Given the description of an element on the screen output the (x, y) to click on. 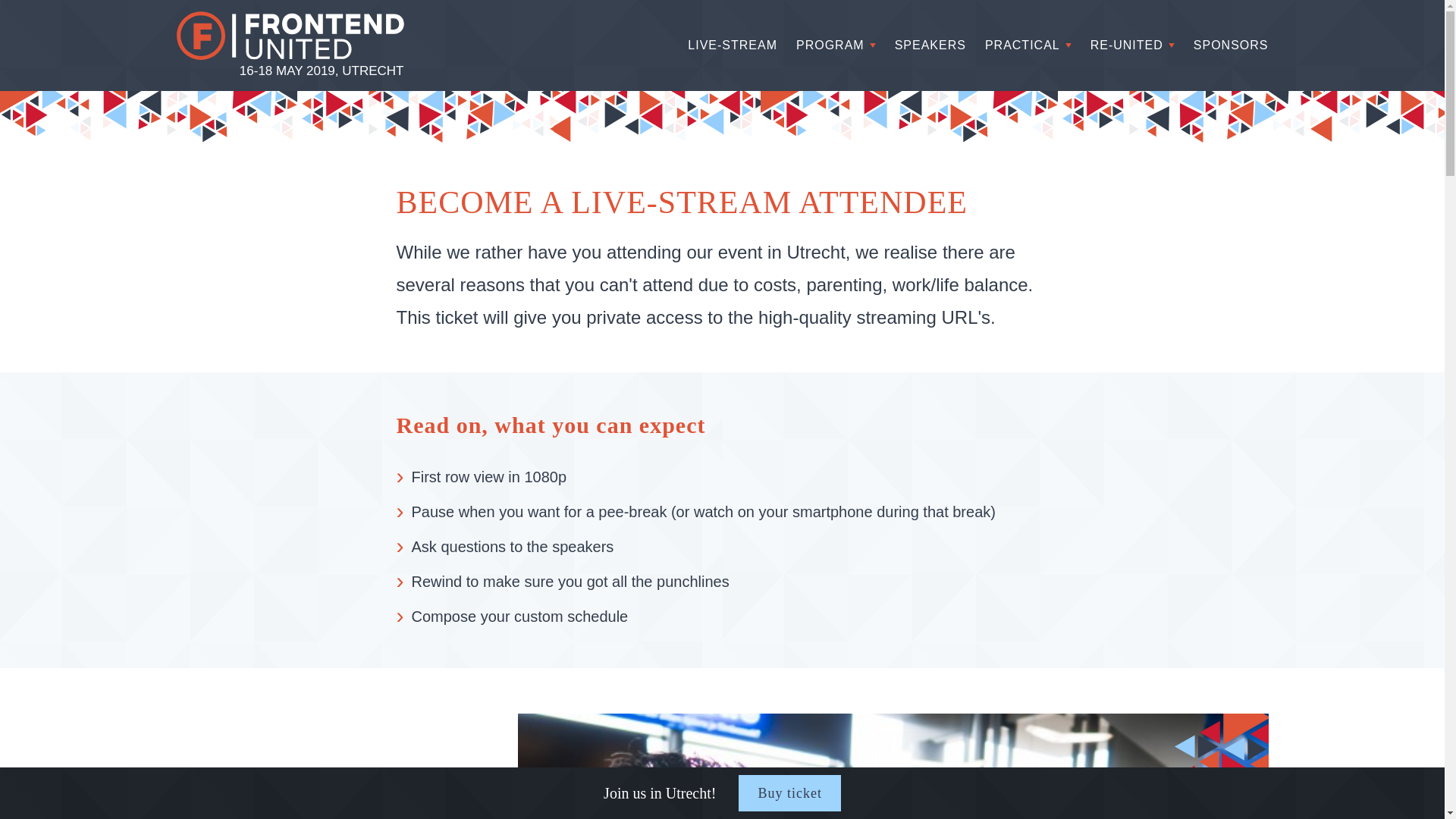
Our amazing sponsors (1230, 45)
SPEAKERS (930, 45)
SPONSORS (1230, 45)
Skip to main content (7, 7)
LIVE-STREAM (732, 45)
16-18 MAY 2019, UTRECHT (289, 47)
PRACTICAL (1022, 45)
Speakerlist (930, 45)
PROGRAM (830, 45)
Home (289, 47)
